Given the description of an element on the screen output the (x, y) to click on. 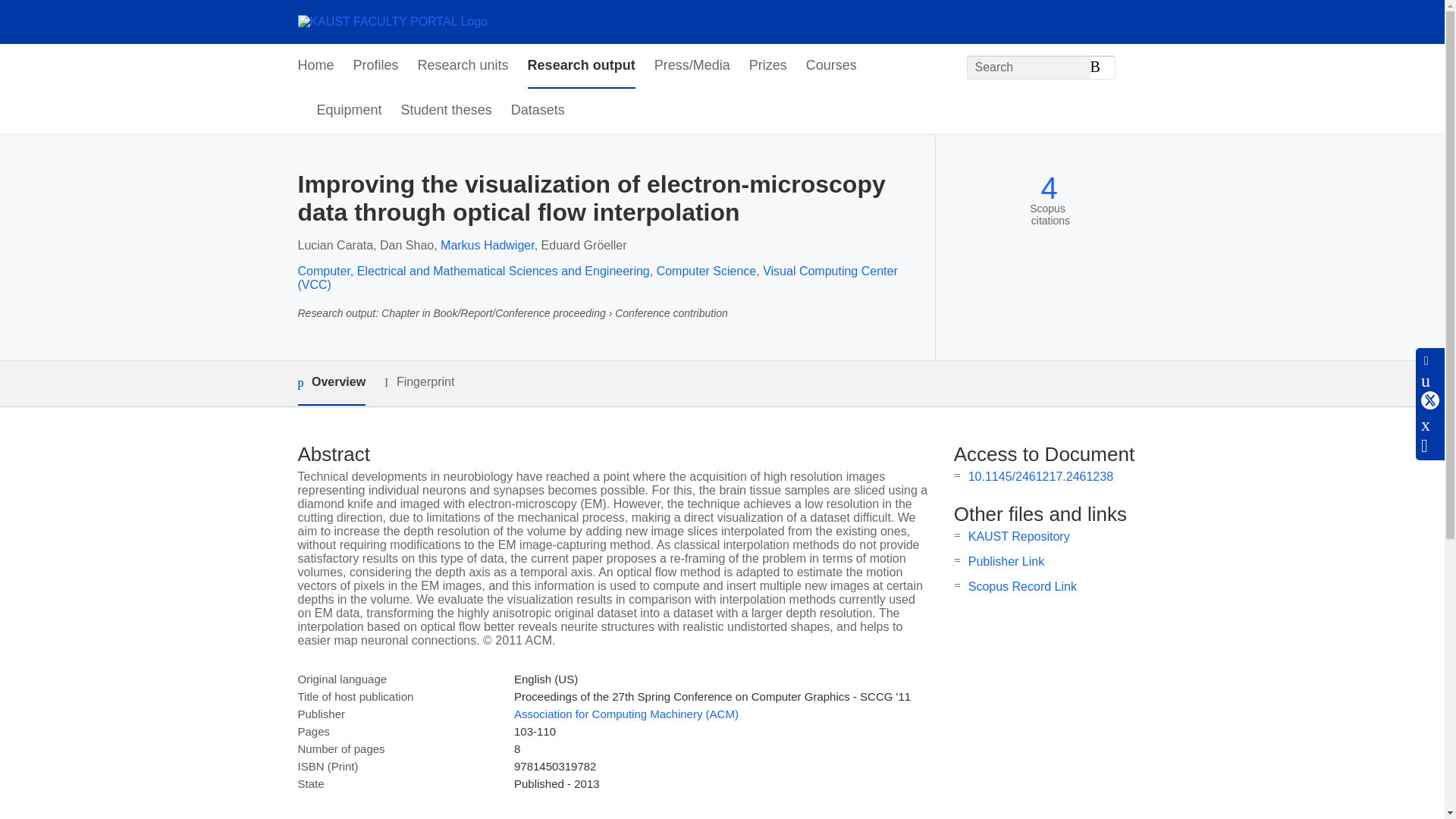
Student theses (446, 110)
Courses (831, 66)
KAUST Repository (1019, 535)
Equipment (349, 110)
Publisher Link (1006, 561)
Research output (580, 66)
KAUST FACULTY PORTAL Home (391, 21)
Scopus Record Link (1022, 585)
Profiles (375, 66)
